Given the description of an element on the screen output the (x, y) to click on. 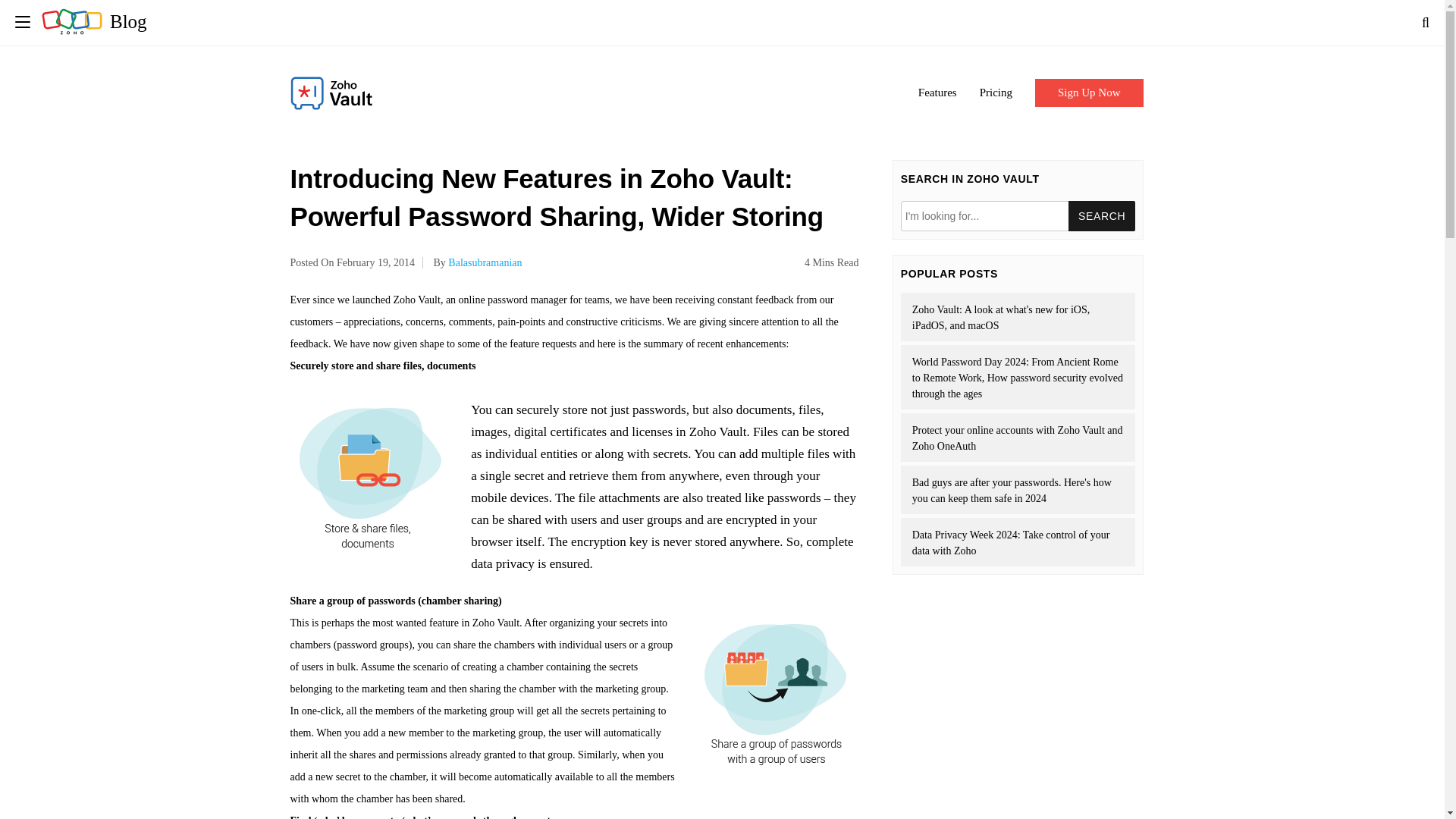
Sign Up Now (1088, 92)
Features (937, 92)
Search (1101, 215)
Balasubramanian (484, 262)
Pricing (995, 92)
Search (1101, 215)
Zoho Vault: A look at what's new for iOS, iPadOS, and macOS (1018, 316)
Blog (94, 21)
